Given the description of an element on the screen output the (x, y) to click on. 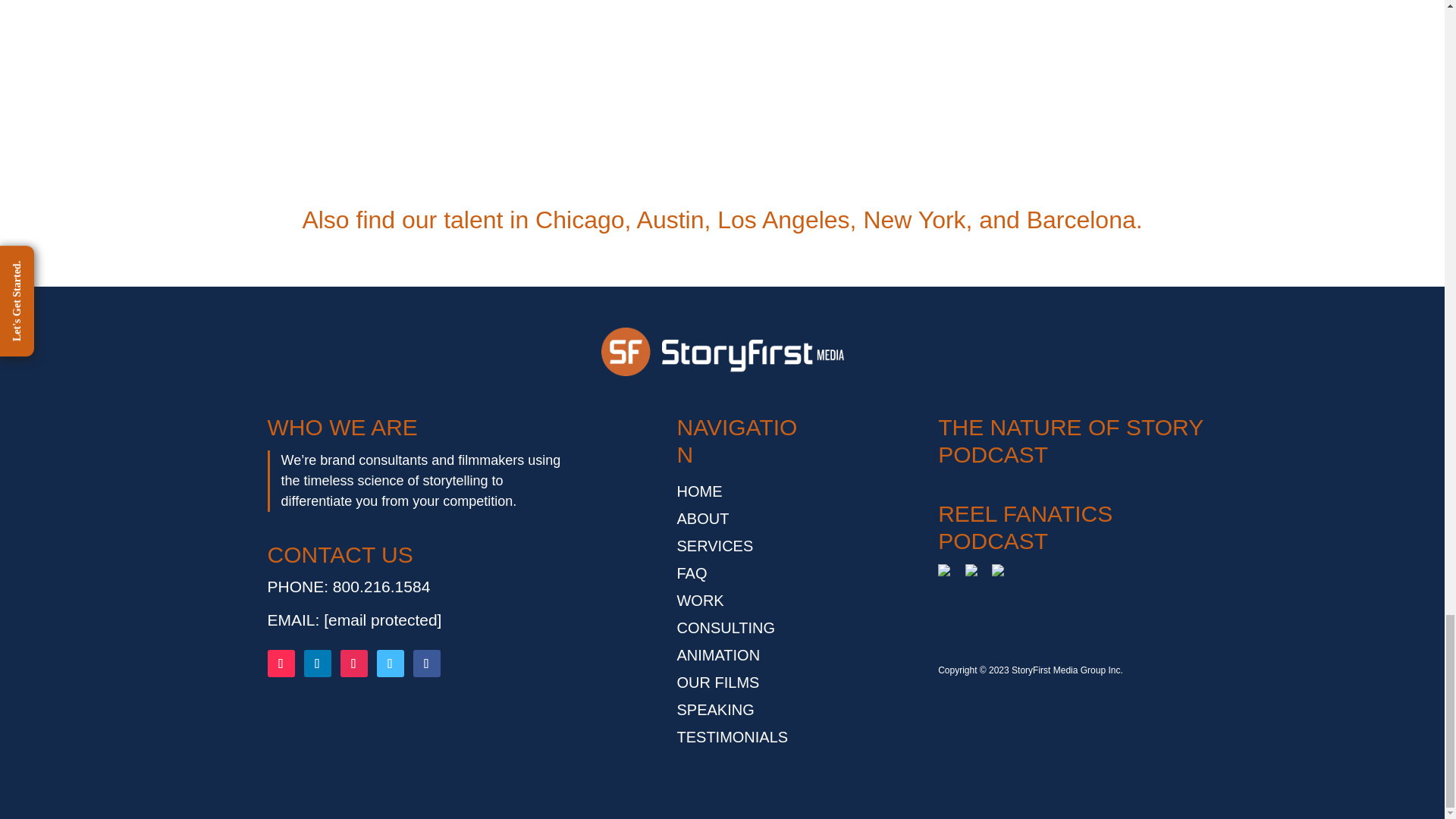
Follow on LinkedIn (316, 663)
800.216.1584 (381, 586)
Follow on TikTok (280, 663)
SF-logo-800w (721, 351)
Follow on Vimeo (389, 663)
Follow on Instagram (352, 663)
Follow on Facebook (425, 663)
